Given the description of an element on the screen output the (x, y) to click on. 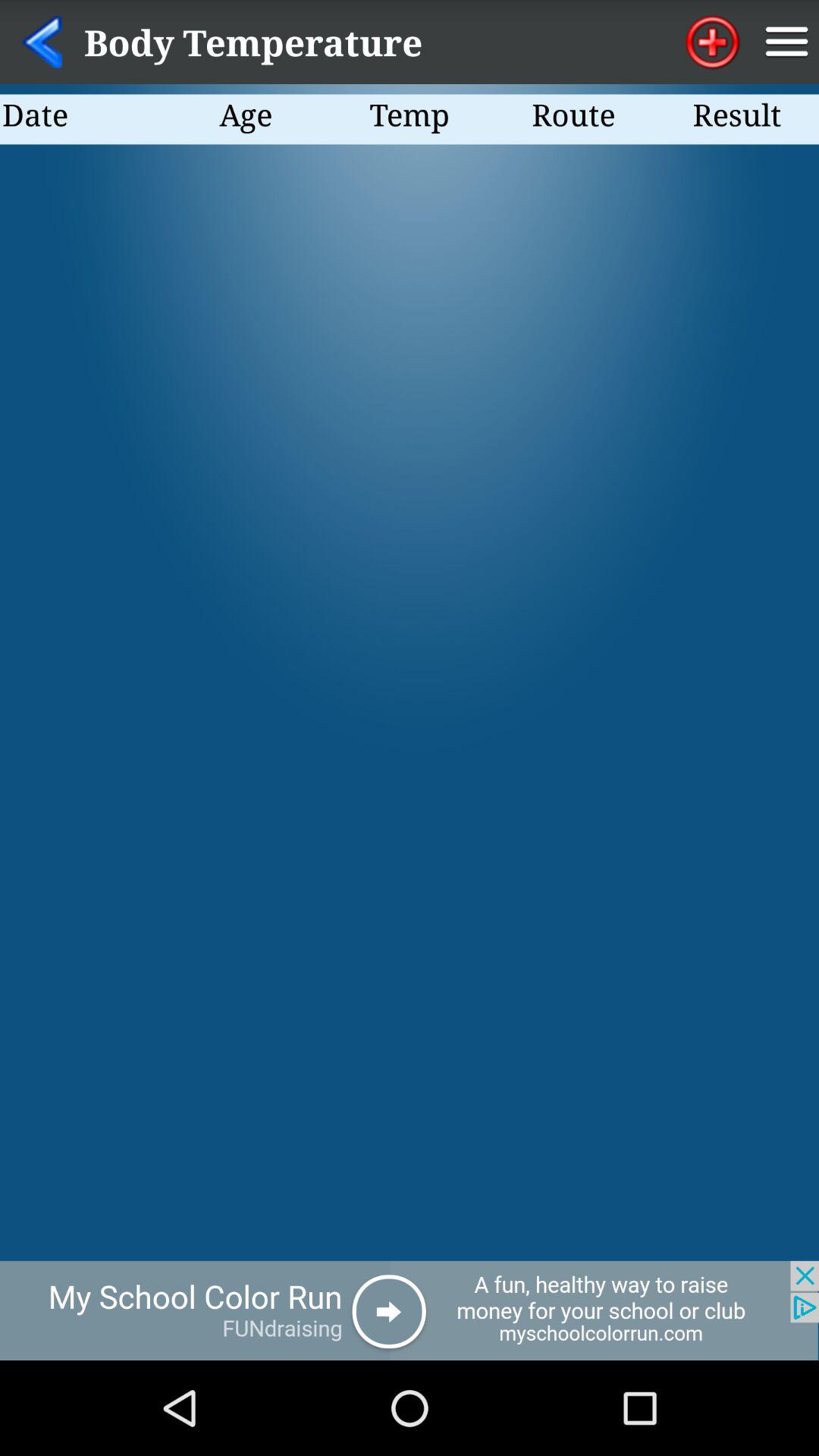
it is go previous page element (42, 42)
